Given the description of an element on the screen output the (x, y) to click on. 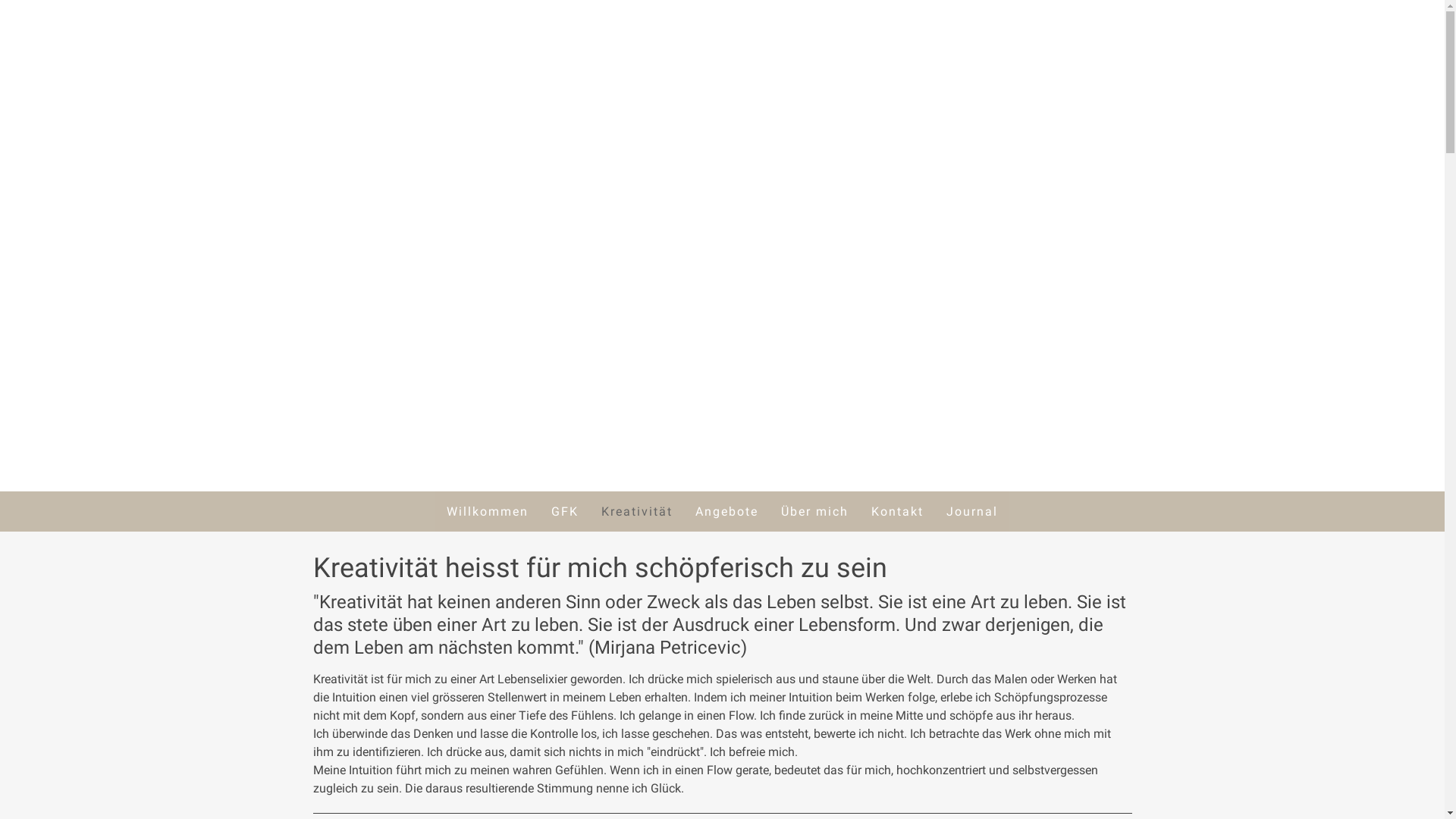
Journal Element type: text (972, 511)
Willkommen Element type: text (487, 511)
GFK Element type: text (564, 511)
Angebote Element type: text (726, 511)
Kontakt Element type: text (897, 511)
